Given the description of an element on the screen output the (x, y) to click on. 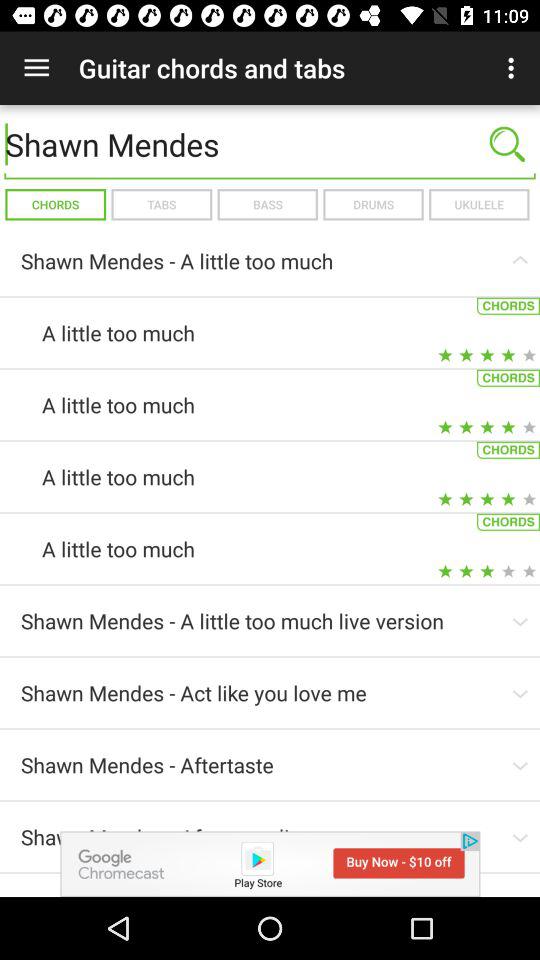
tap the icon above the shawn mendes a icon (478, 204)
